Given the description of an element on the screen output the (x, y) to click on. 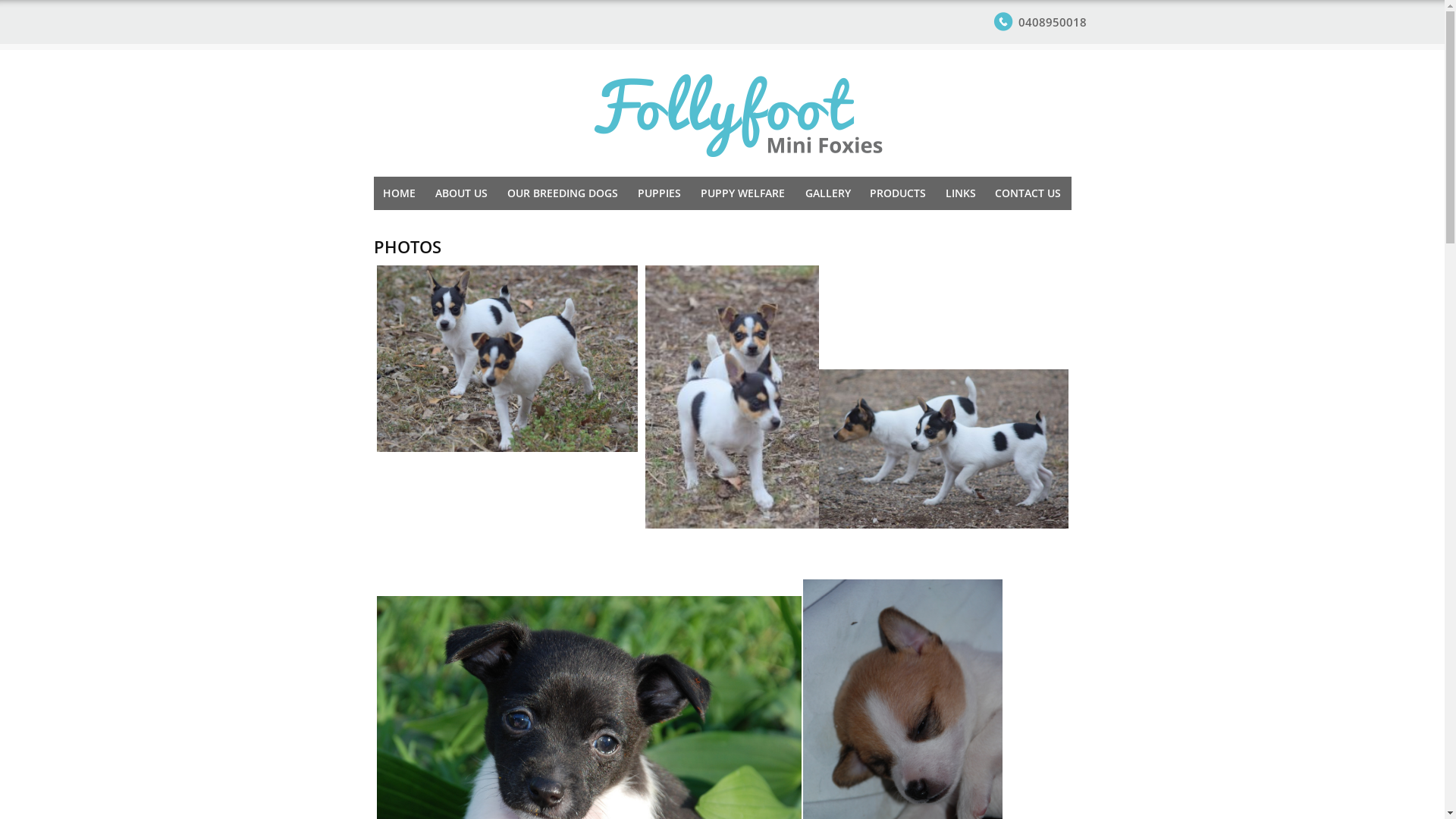
PUPPY WELFARE Element type: text (742, 193)
FOLLYFOOT MINI FOXIES Element type: text (736, 113)
GALLERY Element type: text (827, 193)
CONTACT US Element type: text (1027, 193)
ABOUT US Element type: text (461, 193)
PRODUCTS Element type: text (897, 193)
PUPPIES Element type: text (659, 193)
OUR BREEDING DOGS Element type: text (562, 193)
LINKS Element type: text (960, 193)
HOME Element type: text (398, 193)
